Given the description of an element on the screen output the (x, y) to click on. 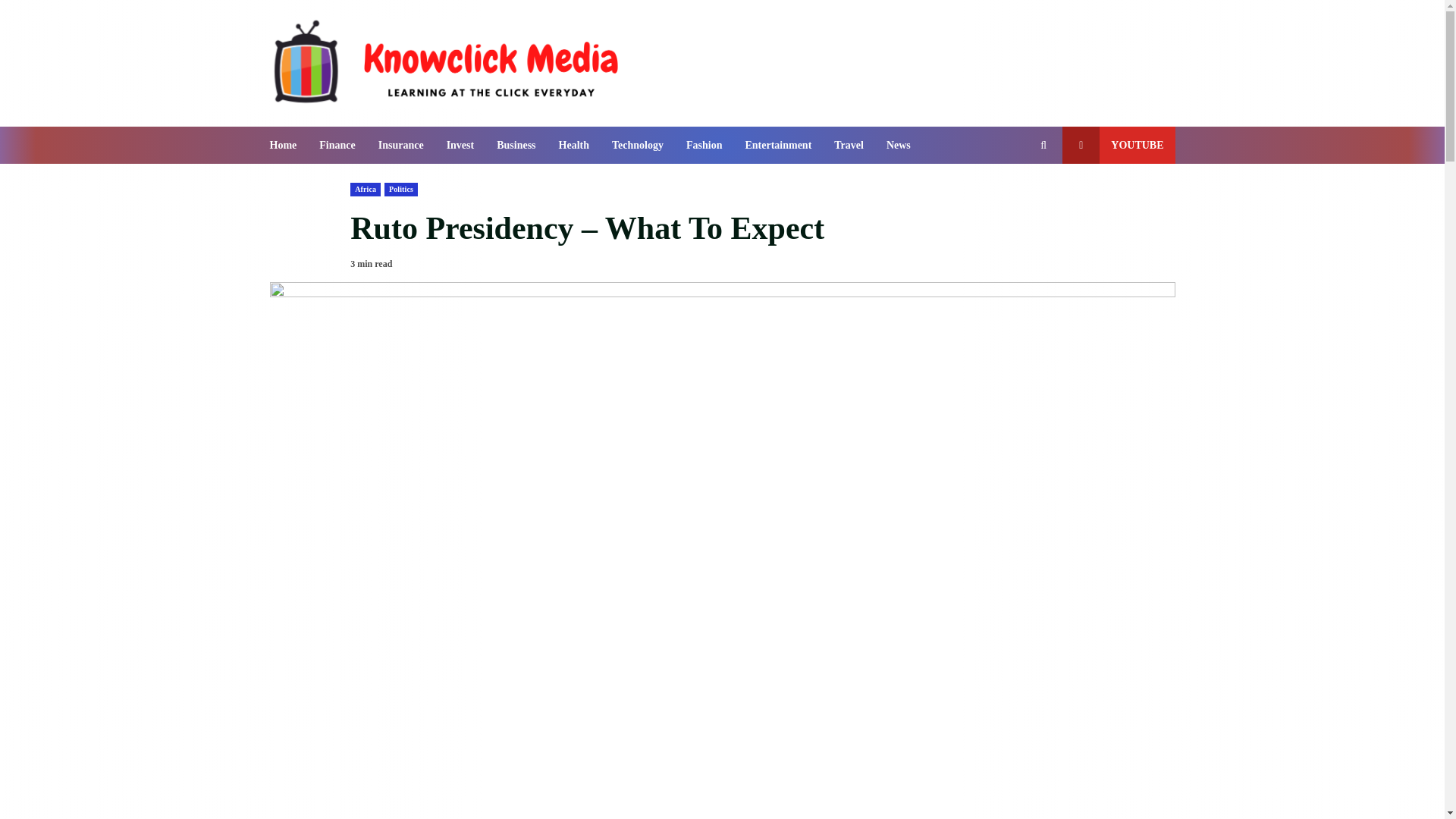
News (893, 144)
Travel (848, 144)
YOUTUBE (1118, 144)
Africa (365, 189)
Entertainment (777, 144)
Home (288, 144)
Search (1015, 196)
Finance (336, 144)
Invest (460, 144)
Politics (400, 189)
Technology (637, 144)
Health (573, 144)
Fashion (704, 144)
Business (515, 144)
Insurance (400, 144)
